Given the description of an element on the screen output the (x, y) to click on. 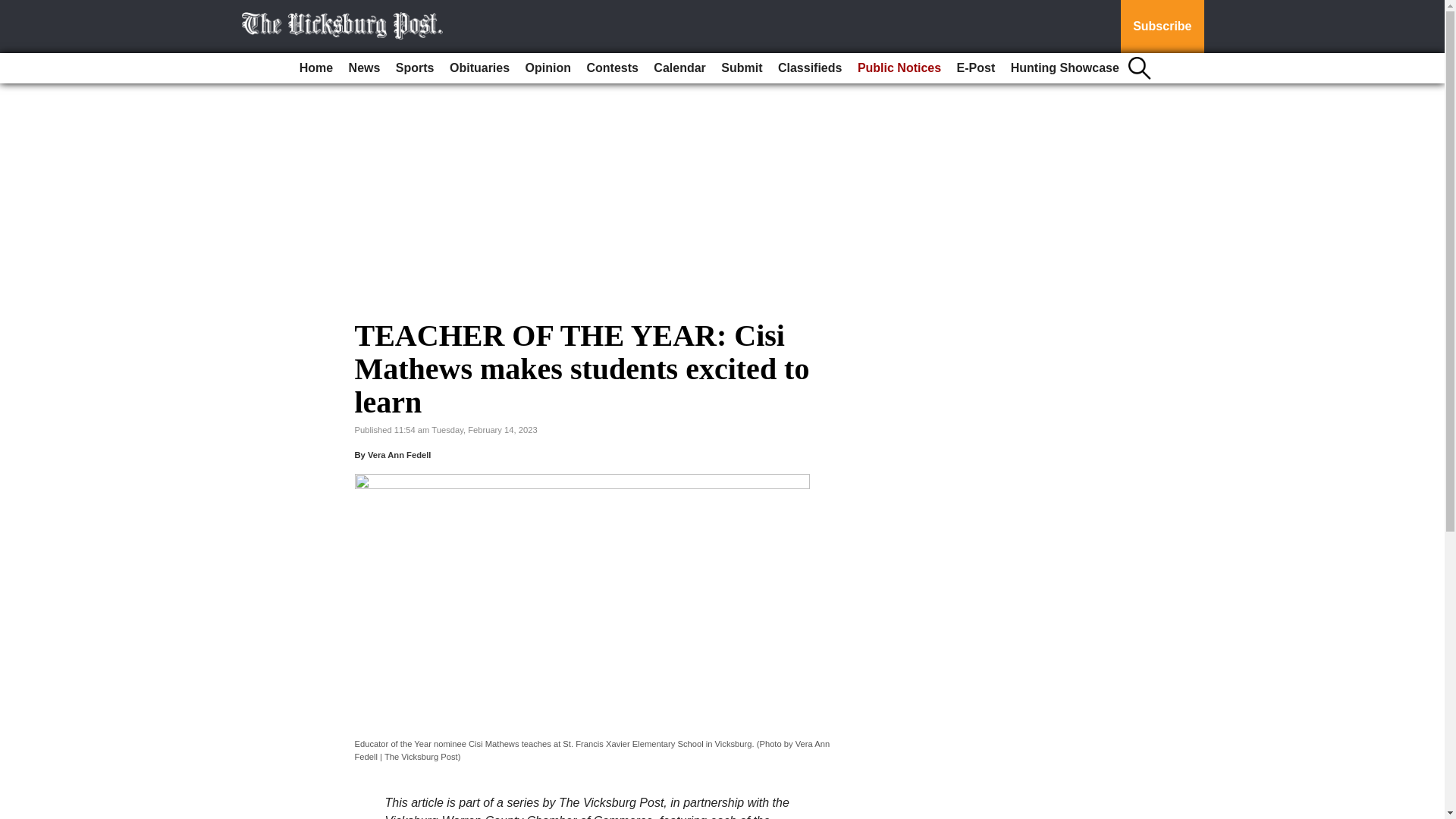
Vera Ann Fedell (399, 454)
Go (13, 9)
Classifieds (809, 68)
E-Post (975, 68)
Sports (415, 68)
News (364, 68)
Hunting Showcase (1064, 68)
Home (316, 68)
Calendar (679, 68)
Submit (741, 68)
